Given the description of an element on the screen output the (x, y) to click on. 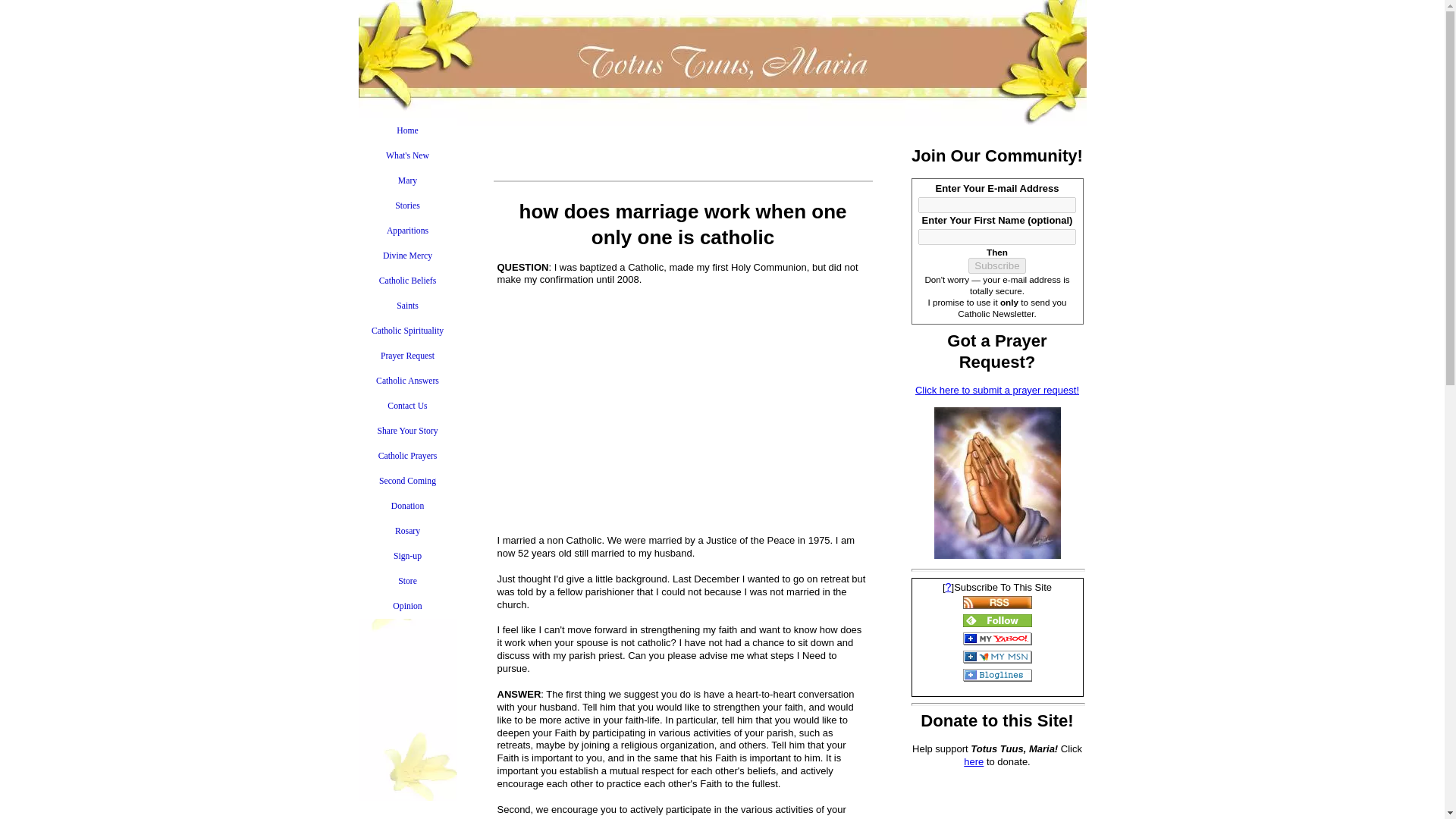
Catholic Answers (407, 380)
Stories (407, 205)
Share Your Story (407, 430)
Catholic Beliefs (407, 280)
Contact Us (407, 405)
Second Coming (407, 480)
Advertisement (681, 415)
What's New (407, 155)
Saints (407, 305)
Divine Mercy (407, 255)
